Given the description of an element on the screen output the (x, y) to click on. 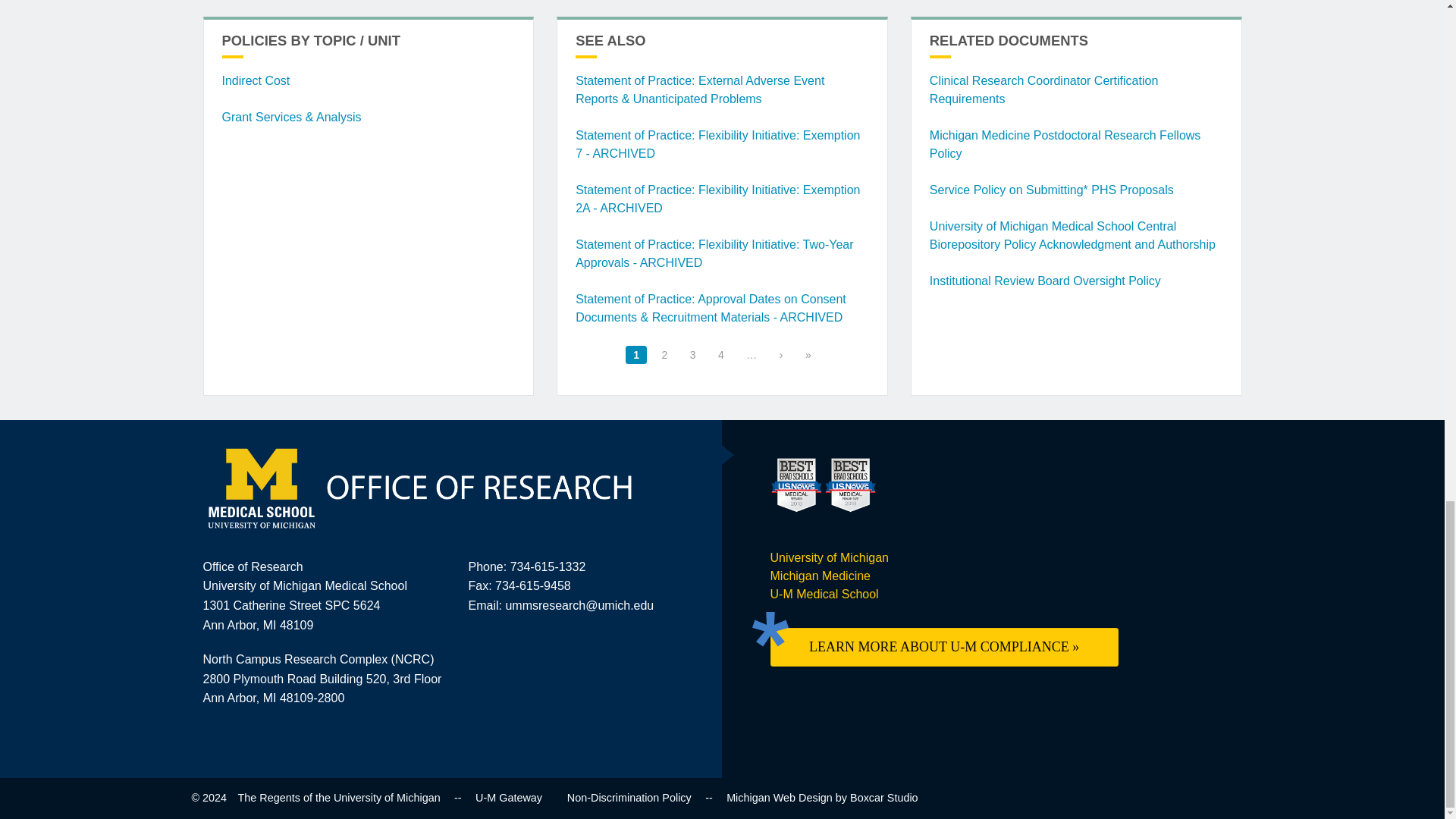
Go to page 3 (692, 354)
Go to page 2 (664, 354)
Go to page 4 (721, 354)
